Given the description of an element on the screen output the (x, y) to click on. 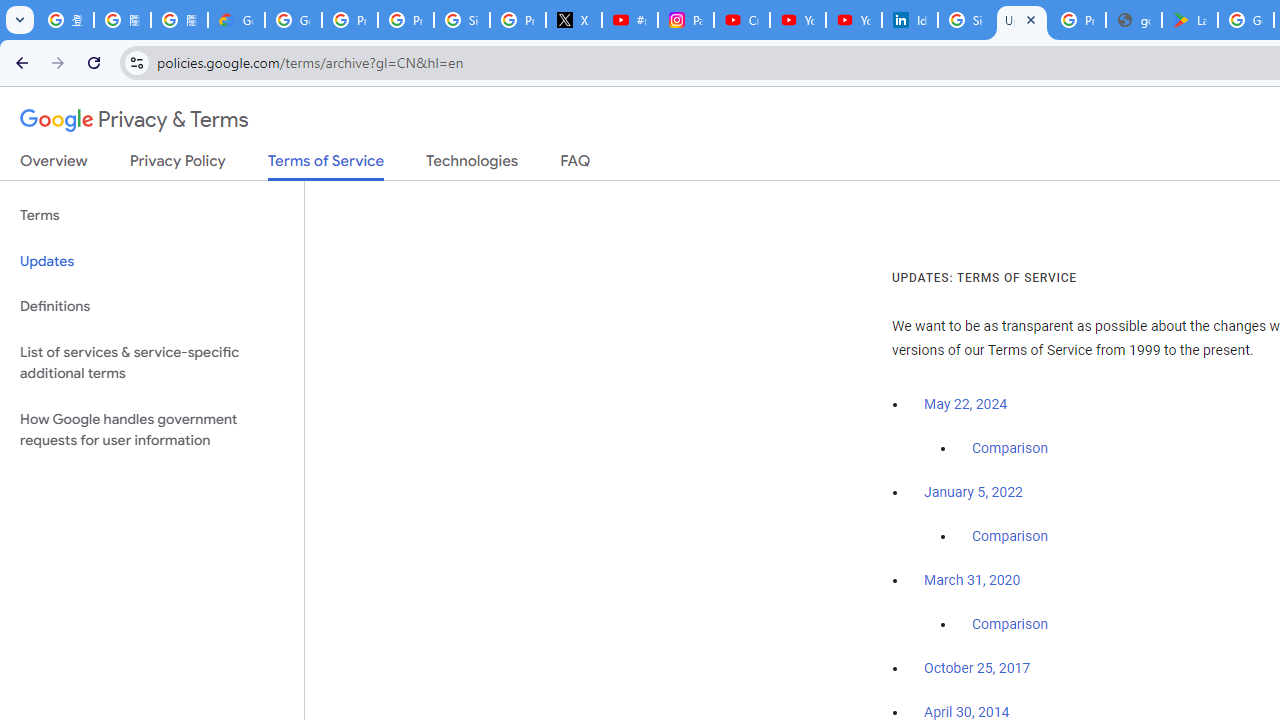
Sign in - Google Accounts (966, 20)
How Google handles government requests for user information (152, 429)
